Given the description of an element on the screen output the (x, y) to click on. 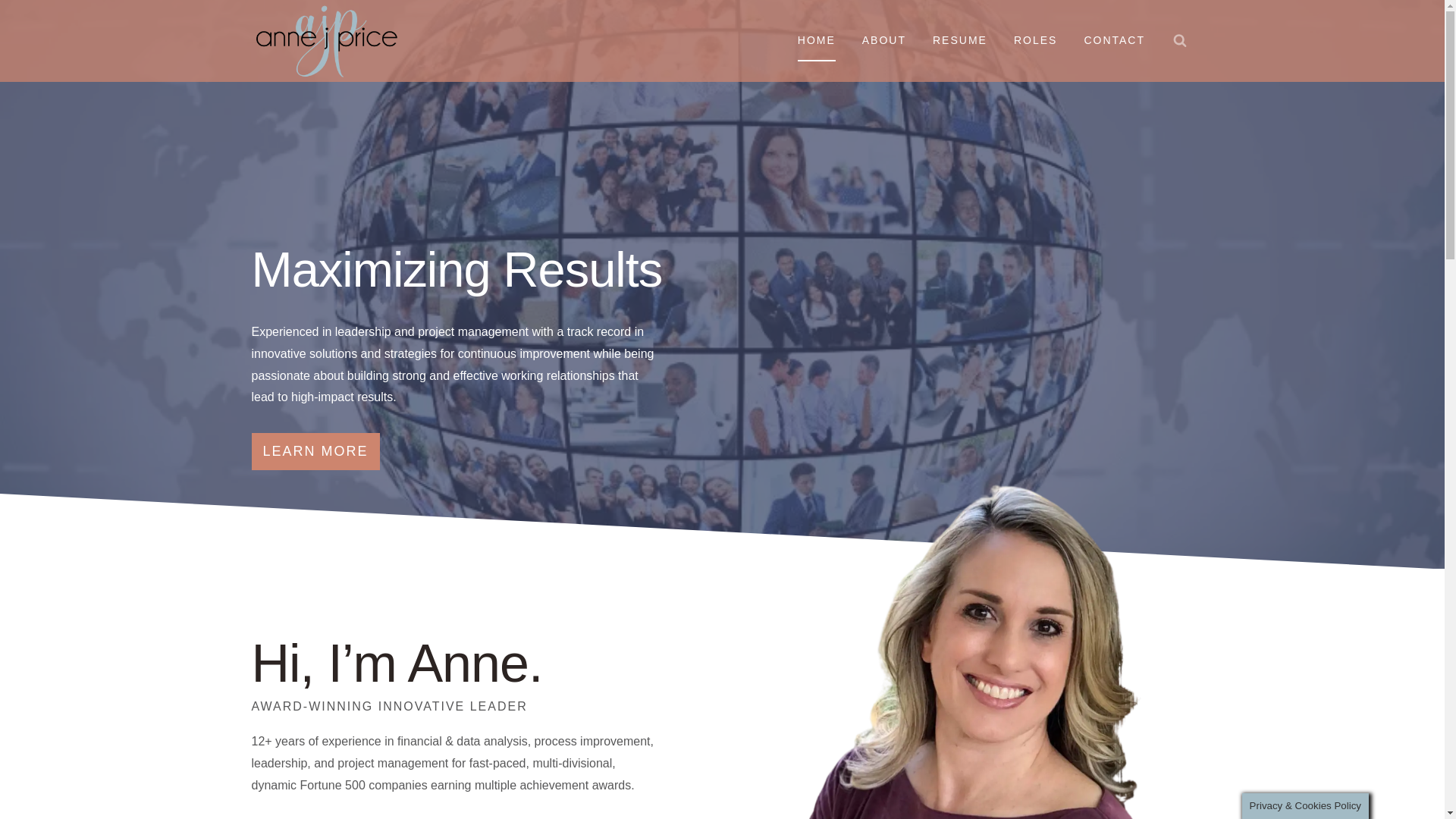
ABOUT (883, 40)
CONTACT (1114, 40)
ROLES (1035, 40)
HOME (816, 40)
RESUME (959, 40)
LEARN MORE (315, 451)
